Given the description of an element on the screen output the (x, y) to click on. 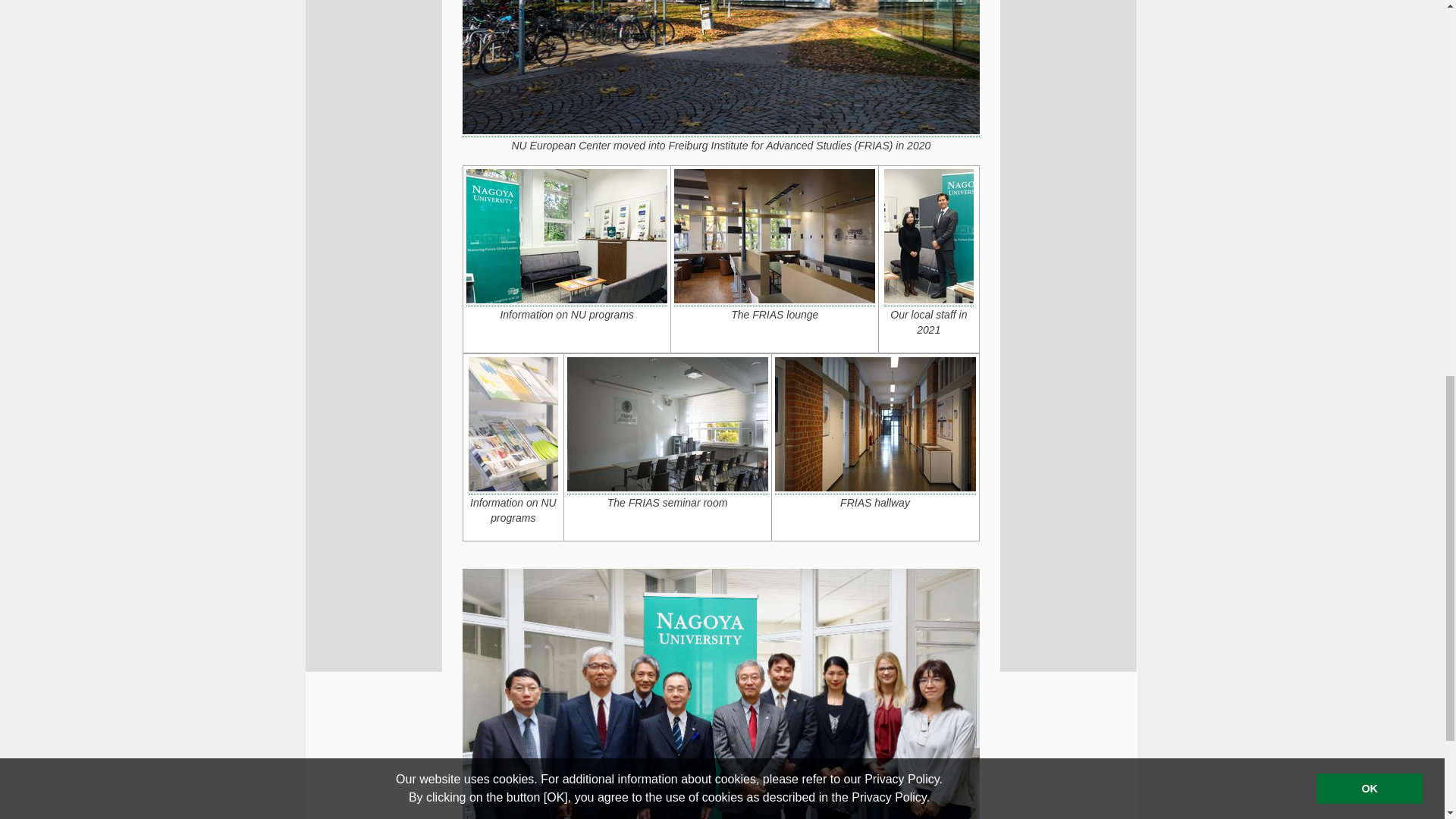
FRIAS Seminar Room (667, 424)
